Given the description of an element on the screen output the (x, y) to click on. 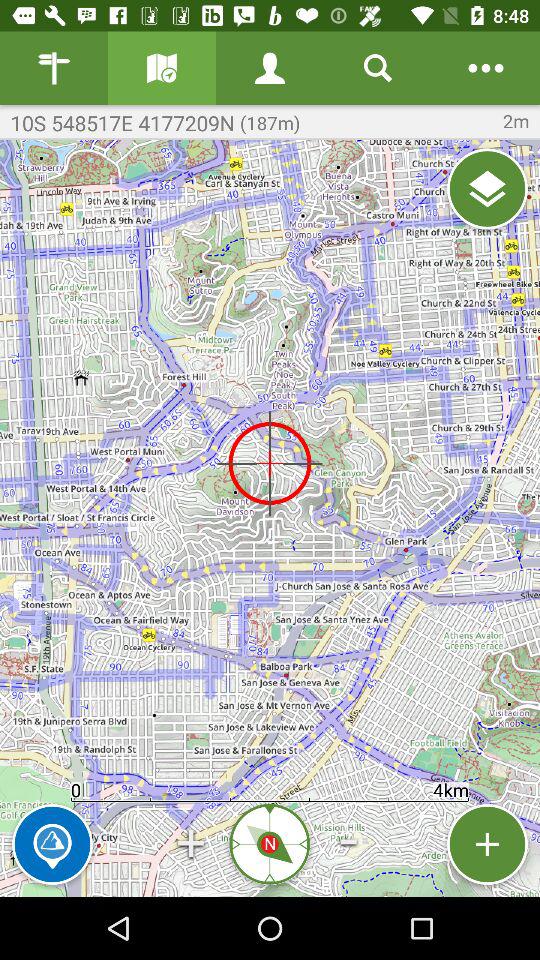
tap to use 'explore skyline feature of the app (52, 844)
